Given the description of an element on the screen output the (x, y) to click on. 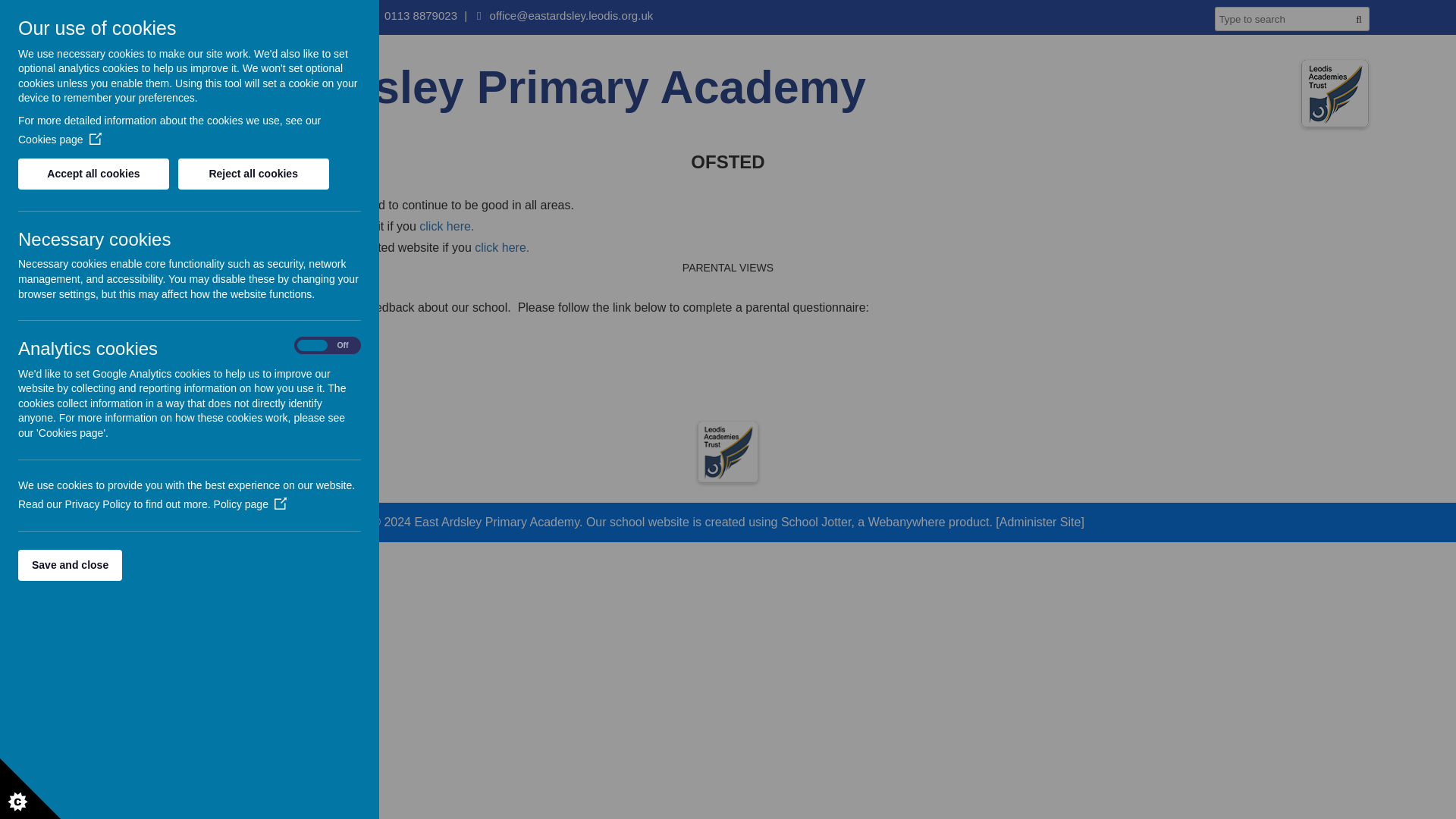
click here. (446, 226)
click here. (501, 246)
on (327, 345)
